Given the description of an element on the screen output the (x, y) to click on. 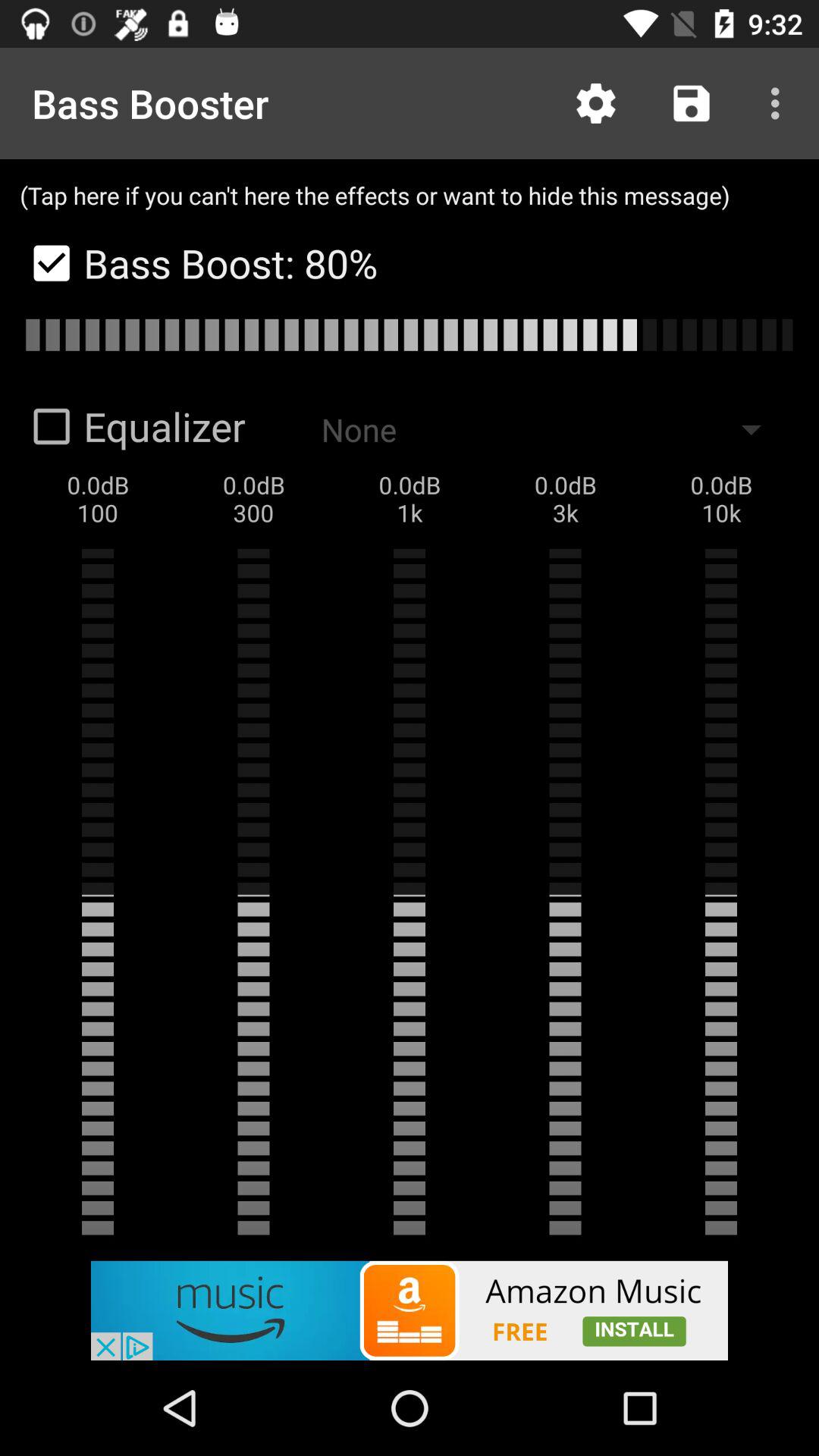
click on advertisement (409, 1310)
